Given the description of an element on the screen output the (x, y) to click on. 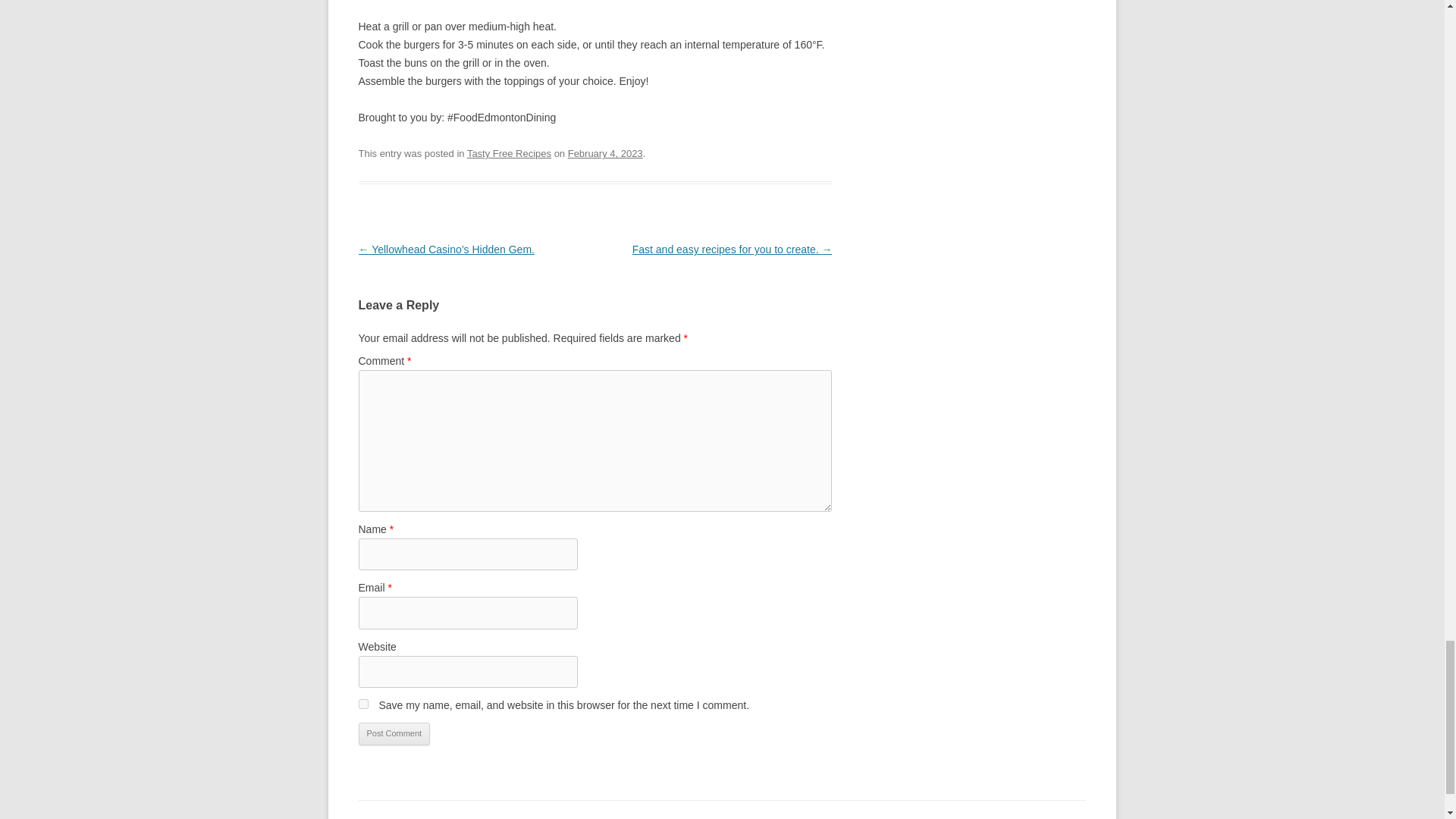
Tasty Free Recipes (509, 153)
Post Comment (393, 733)
8:26 pm (605, 153)
Post Comment (393, 733)
yes (363, 704)
February 4, 2023 (605, 153)
